Given the description of an element on the screen output the (x, y) to click on. 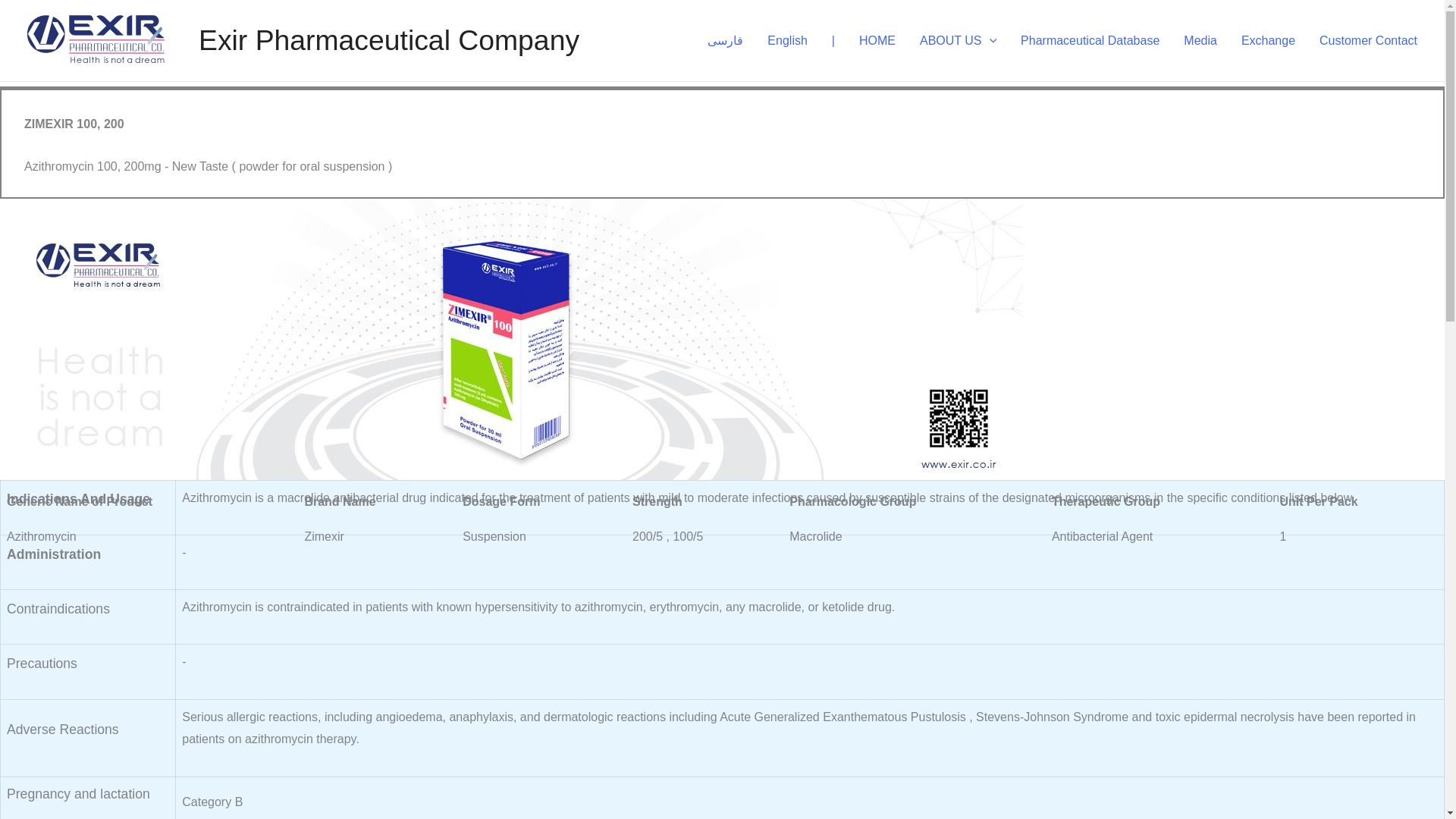
Exir Pharmaceutical Company (388, 40)
Customer Contact (1368, 39)
Pharmaceutical Database (1090, 39)
HOME (877, 39)
ABOUT US (958, 39)
Media (1200, 39)
Exchange (1267, 39)
English (786, 39)
